Given the description of an element on the screen output the (x, y) to click on. 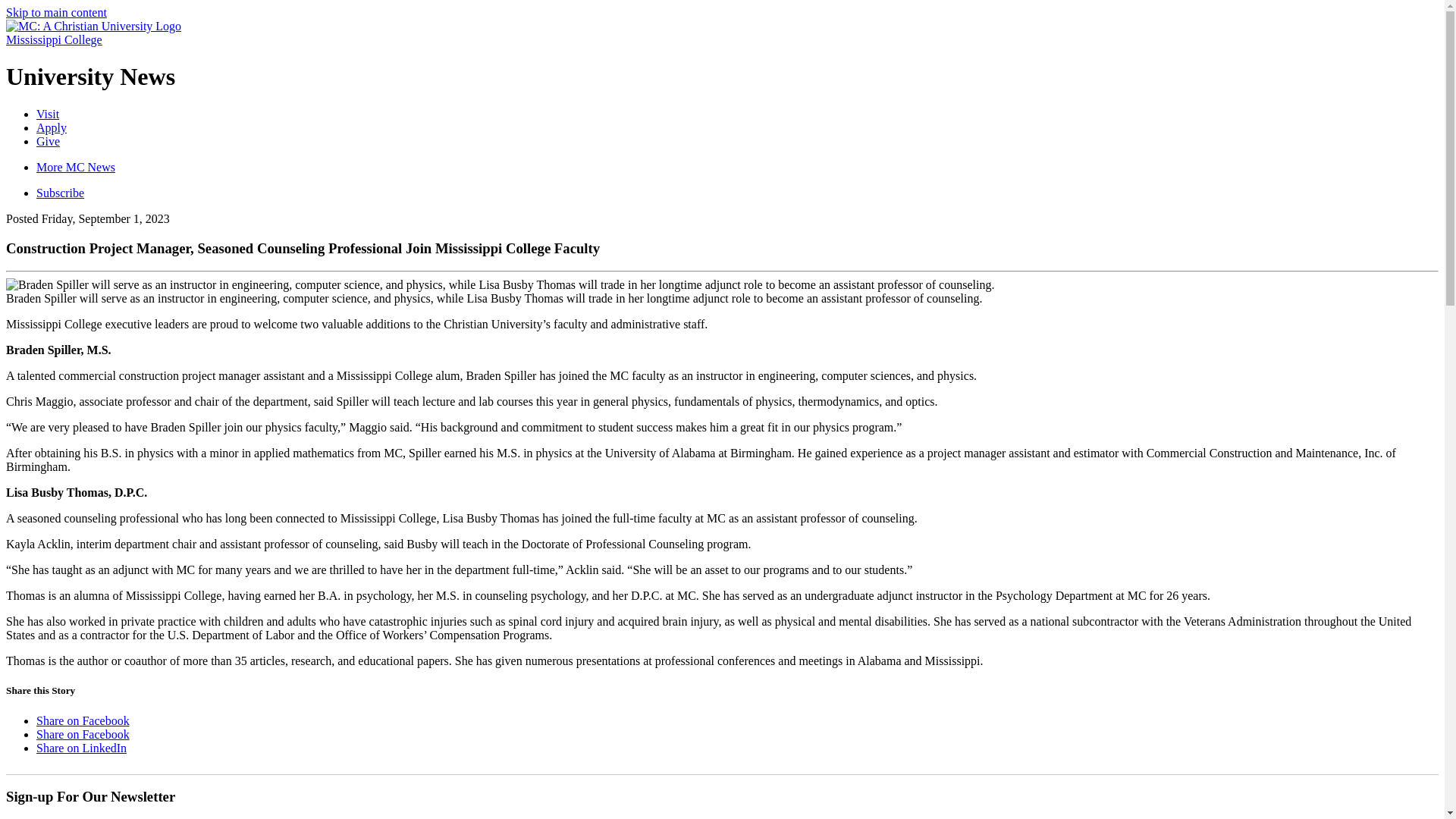
Share on LinkedIn (81, 748)
Mississippi College (53, 39)
Share on Facebook (82, 734)
Visit (47, 113)
Share on Facebook (82, 720)
Subscribe (60, 192)
Give (47, 141)
Skip to main content (55, 11)
Skip to Main Content (55, 11)
More MC News (75, 166)
